Given the description of an element on the screen output the (x, y) to click on. 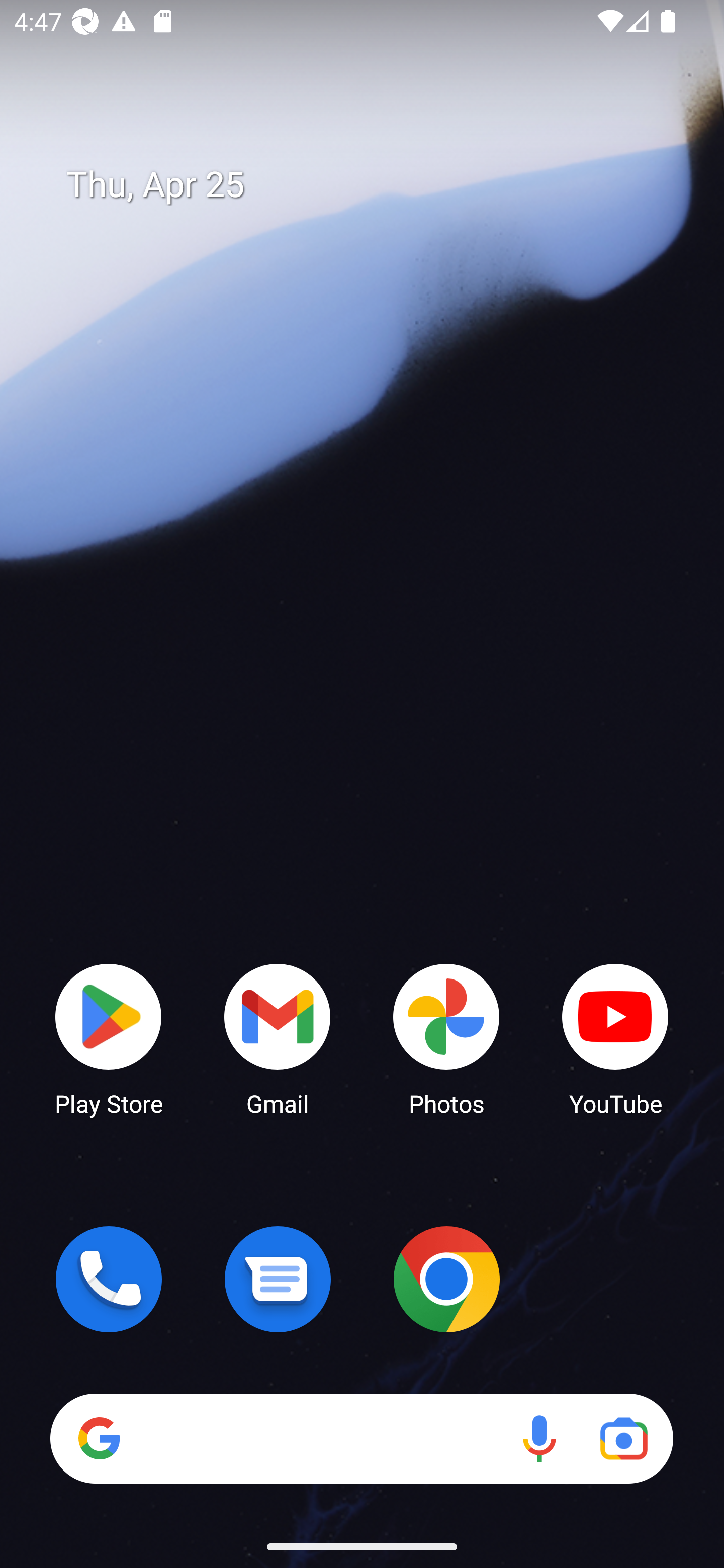
Thu, Apr 25 (375, 184)
Play Store (108, 1038)
Gmail (277, 1038)
Photos (445, 1038)
YouTube (615, 1038)
Phone (108, 1279)
Messages (277, 1279)
Chrome (446, 1279)
Search Voice search Google Lens (361, 1438)
Voice search (539, 1438)
Google Lens (623, 1438)
